Given the description of an element on the screen output the (x, y) to click on. 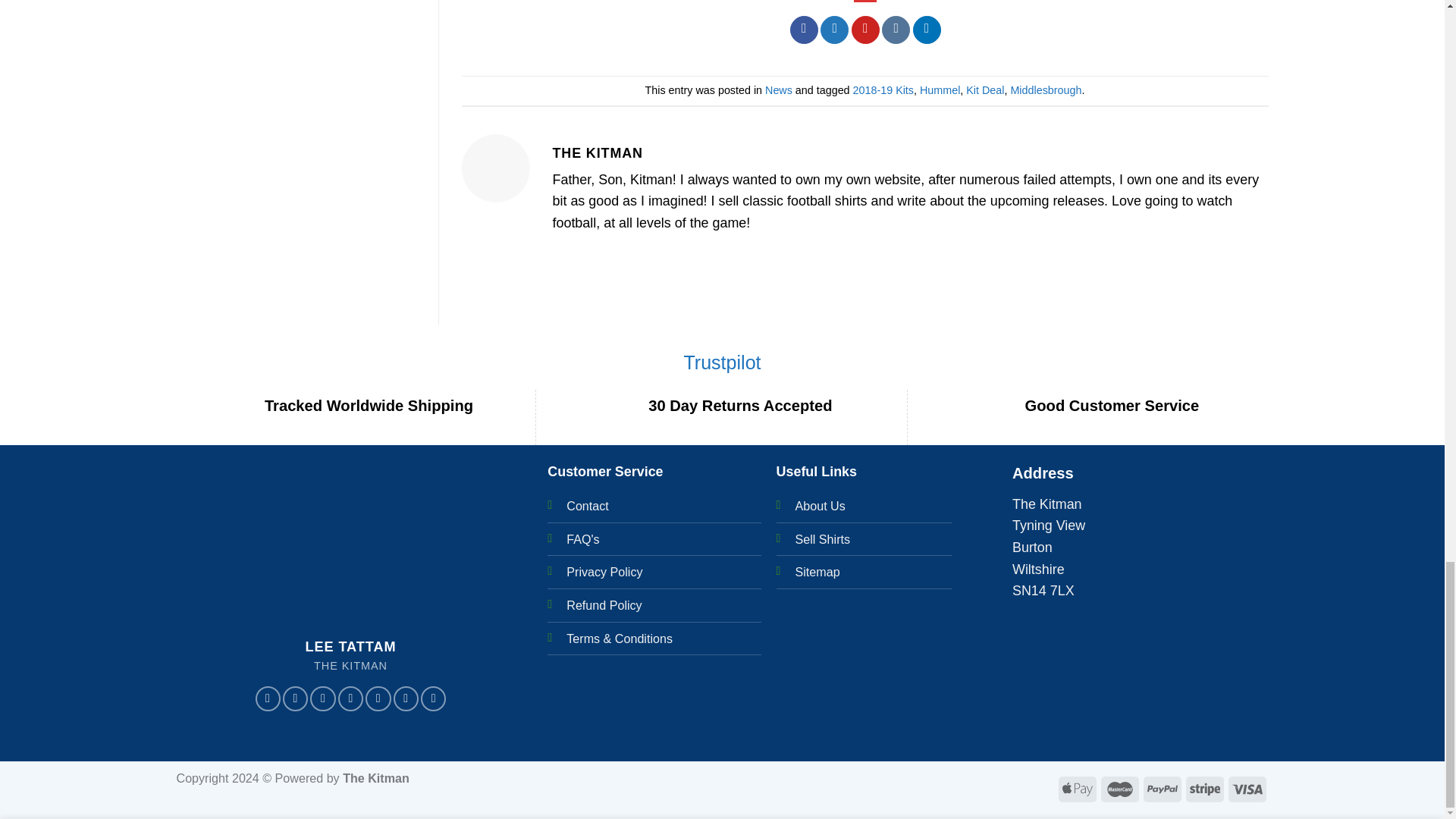
Share on LinkedIn (926, 29)
Follow on TikTok (322, 698)
Follow on LinkedIn (432, 698)
Send us an email (377, 698)
Share on Twitter (834, 29)
Follow on Instagram (294, 698)
Follow on X (349, 698)
Share on Facebook (804, 29)
Follow on Facebook (268, 698)
Pin on Pinterest (865, 29)
